Given the description of an element on the screen output the (x, y) to click on. 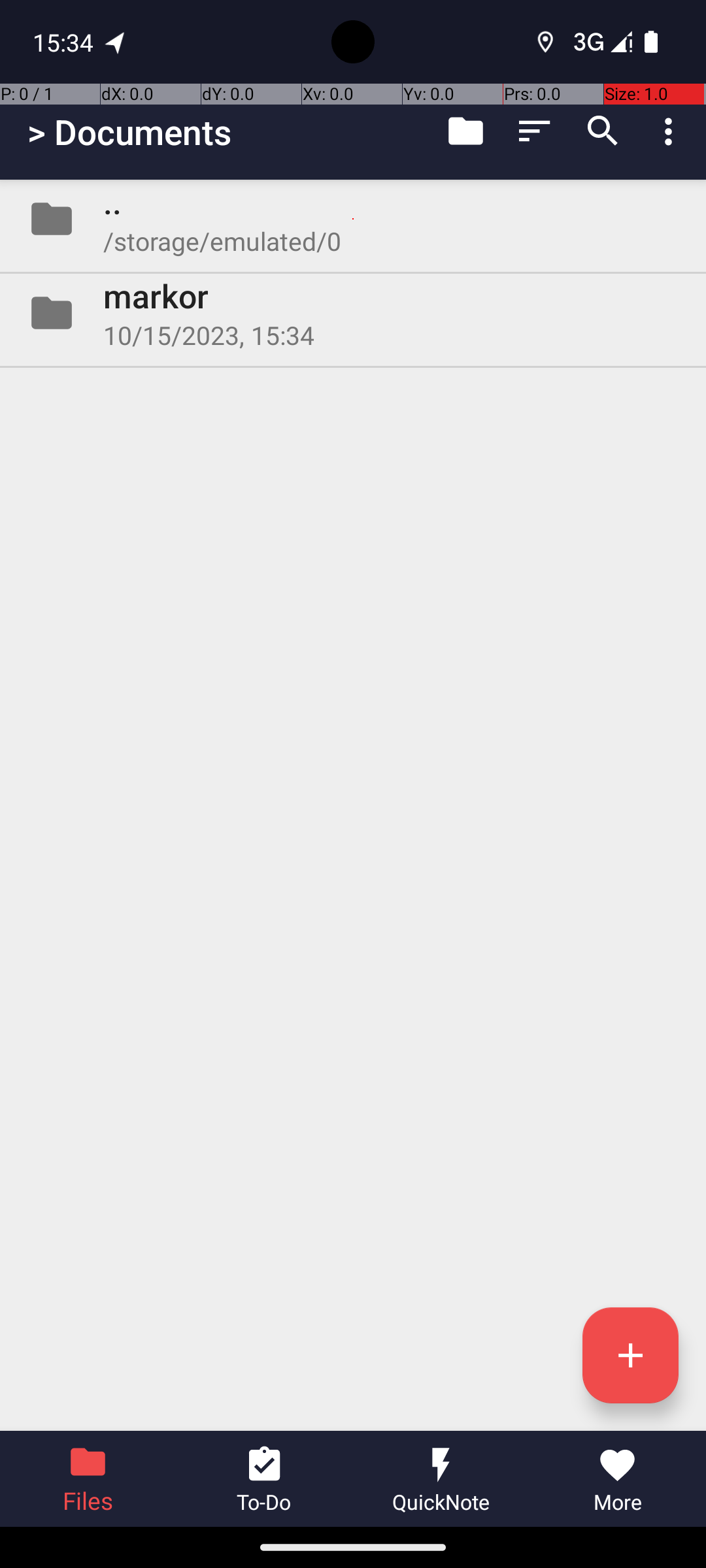
> Documents Element type: android.widget.TextView (129, 131)
Folder .. /storage/emulated/0/Documents Element type: android.widget.LinearLayout (353, 218)
Folder markor 10/15/2023, 15:34 Element type: android.widget.LinearLayout (353, 312)
